Given the description of an element on the screen output the (x, y) to click on. 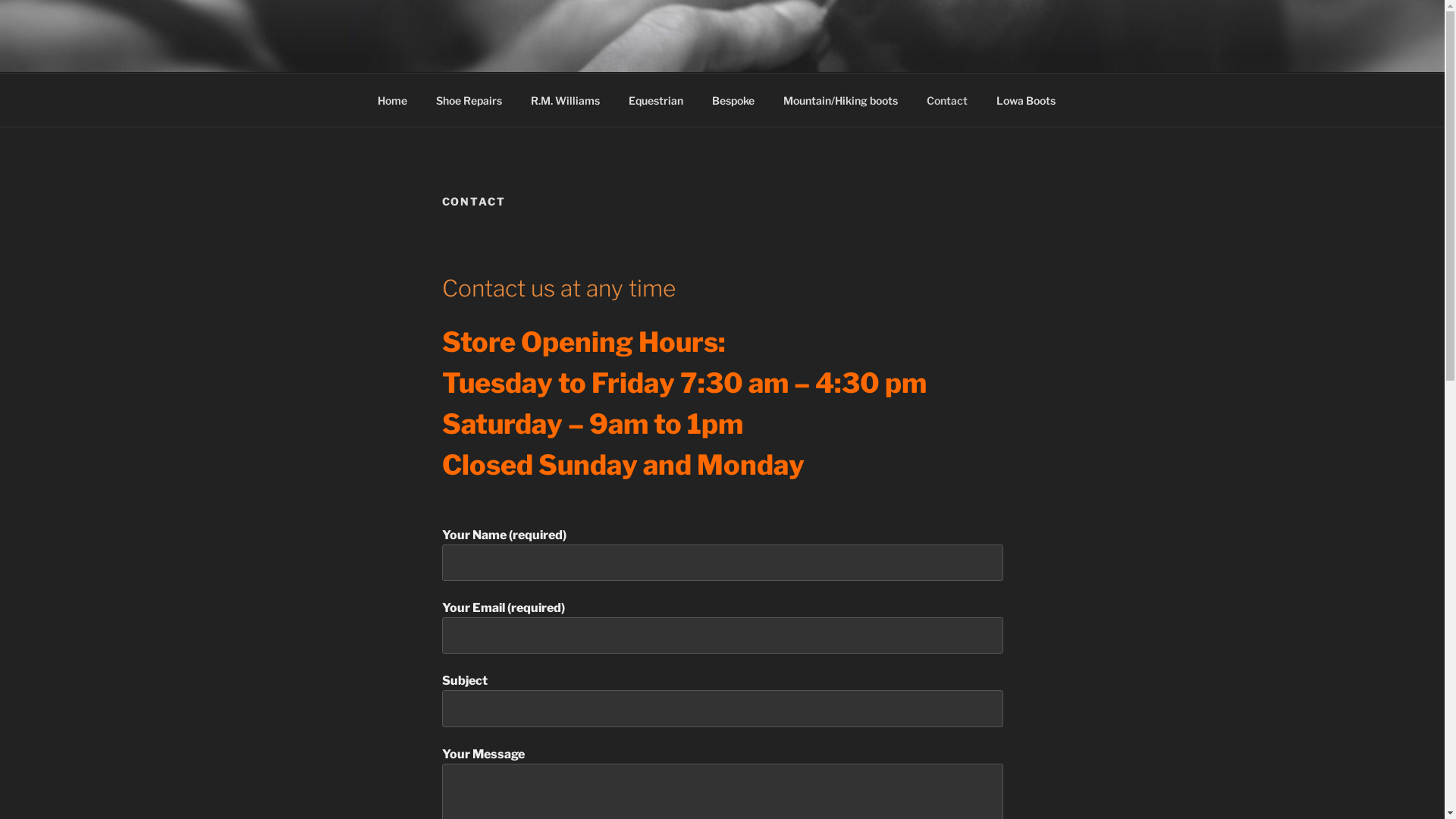
Lowa Boots Element type: text (1025, 100)
Shoe Repairs Element type: text (469, 100)
Mountain/Hiking boots Element type: text (840, 100)
Bespoke Element type: text (733, 100)
Home Element type: text (392, 100)
Contact Element type: text (946, 100)
R.M. Williams Element type: text (564, 100)
IDEAL SHOE REPAIRS Element type: text (548, 52)
Equestrian Element type: text (655, 100)
